Given the description of an element on the screen output the (x, y) to click on. 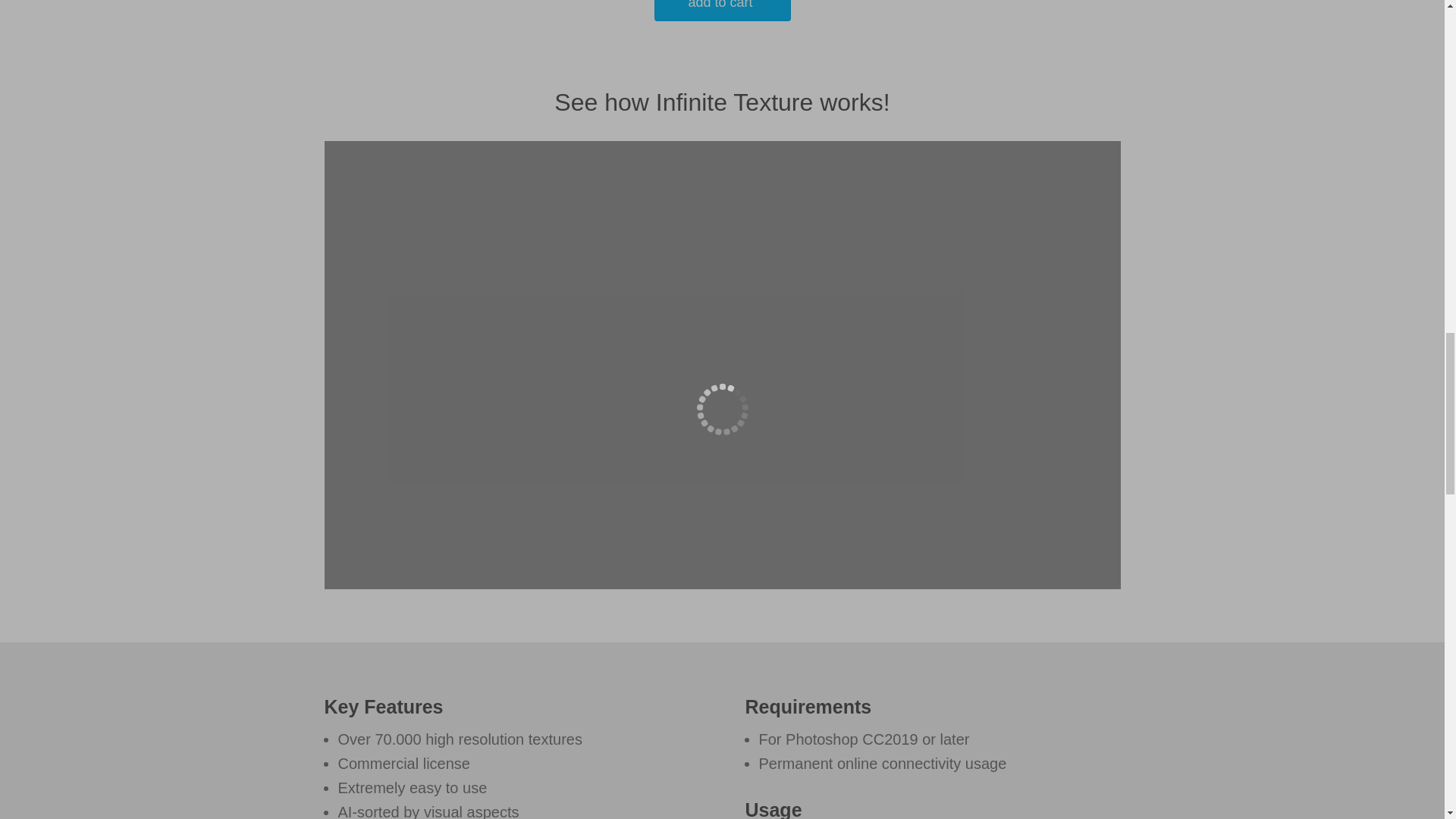
add to cart (721, 10)
